Given the description of an element on the screen output the (x, y) to click on. 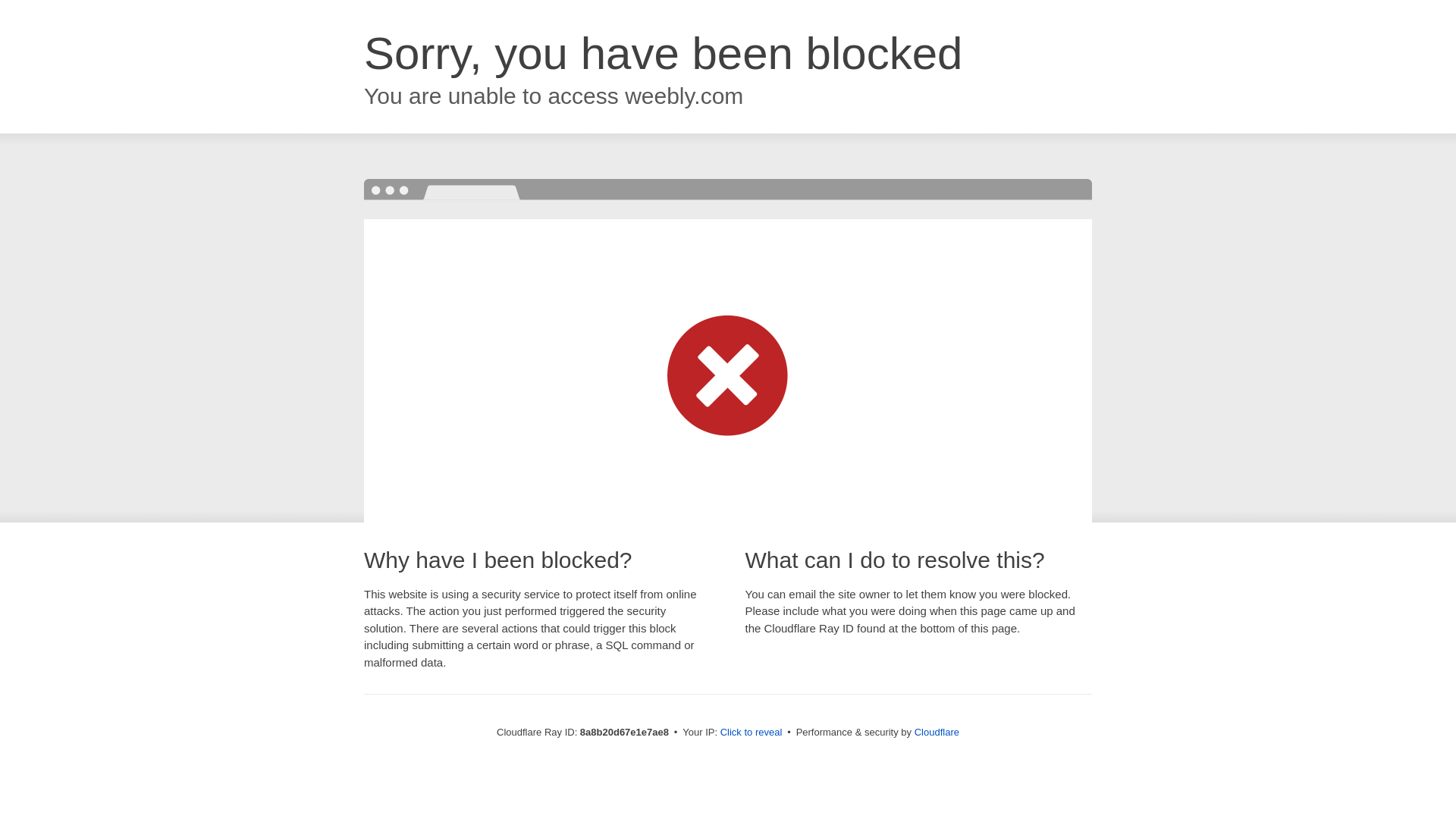
Click to reveal (751, 732)
Cloudflare (936, 731)
